Given the description of an element on the screen output the (x, y) to click on. 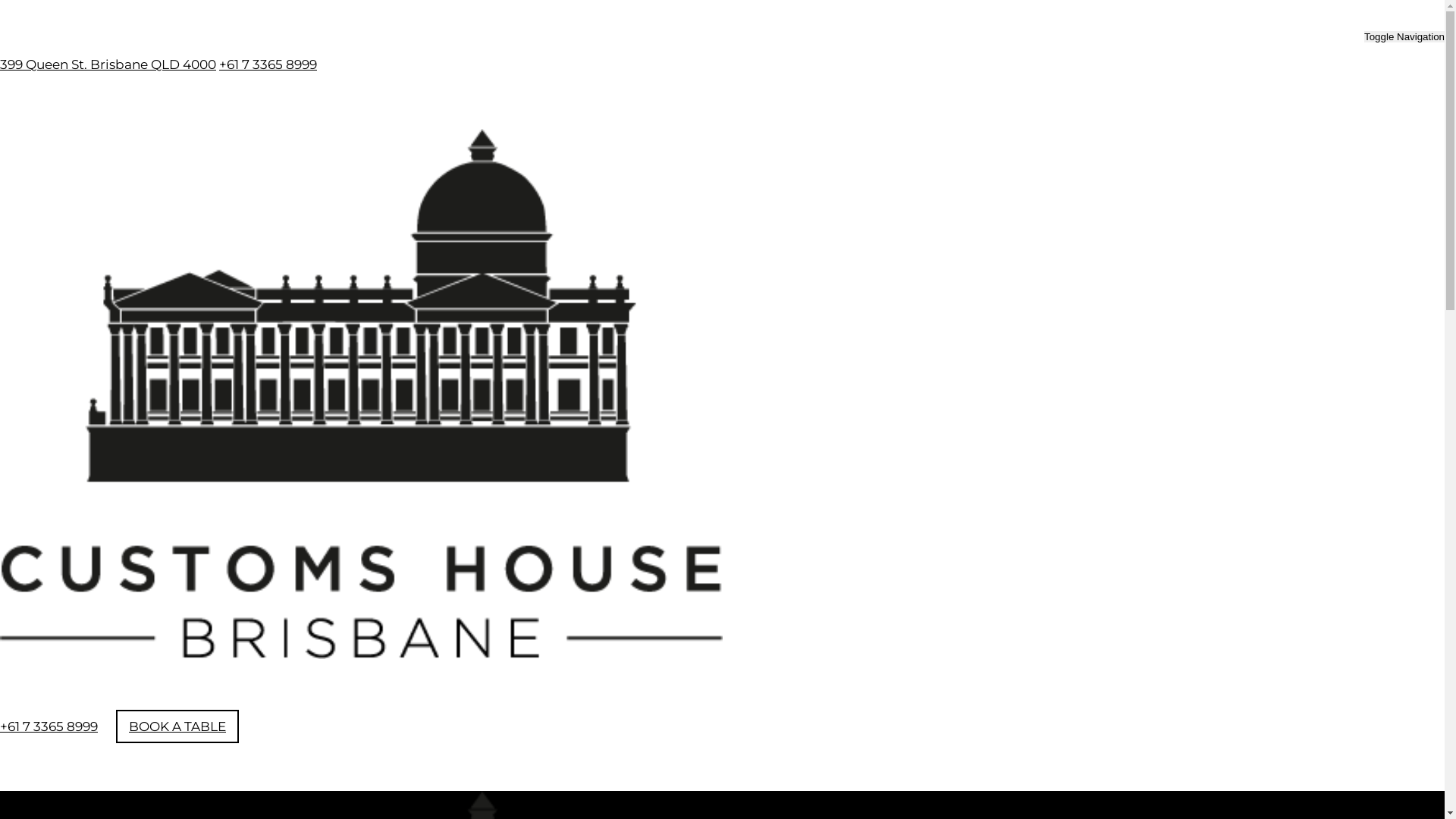
+61 7 3365 8999 Element type: text (267, 64)
+61 7 3365 8999 Element type: text (48, 726)
399 Queen St. Brisbane QLD 4000 Element type: text (108, 64)
Toggle Navigation Element type: text (1404, 36)
BOOK A TABLE Element type: text (177, 726)
